Given the description of an element on the screen output the (x, y) to click on. 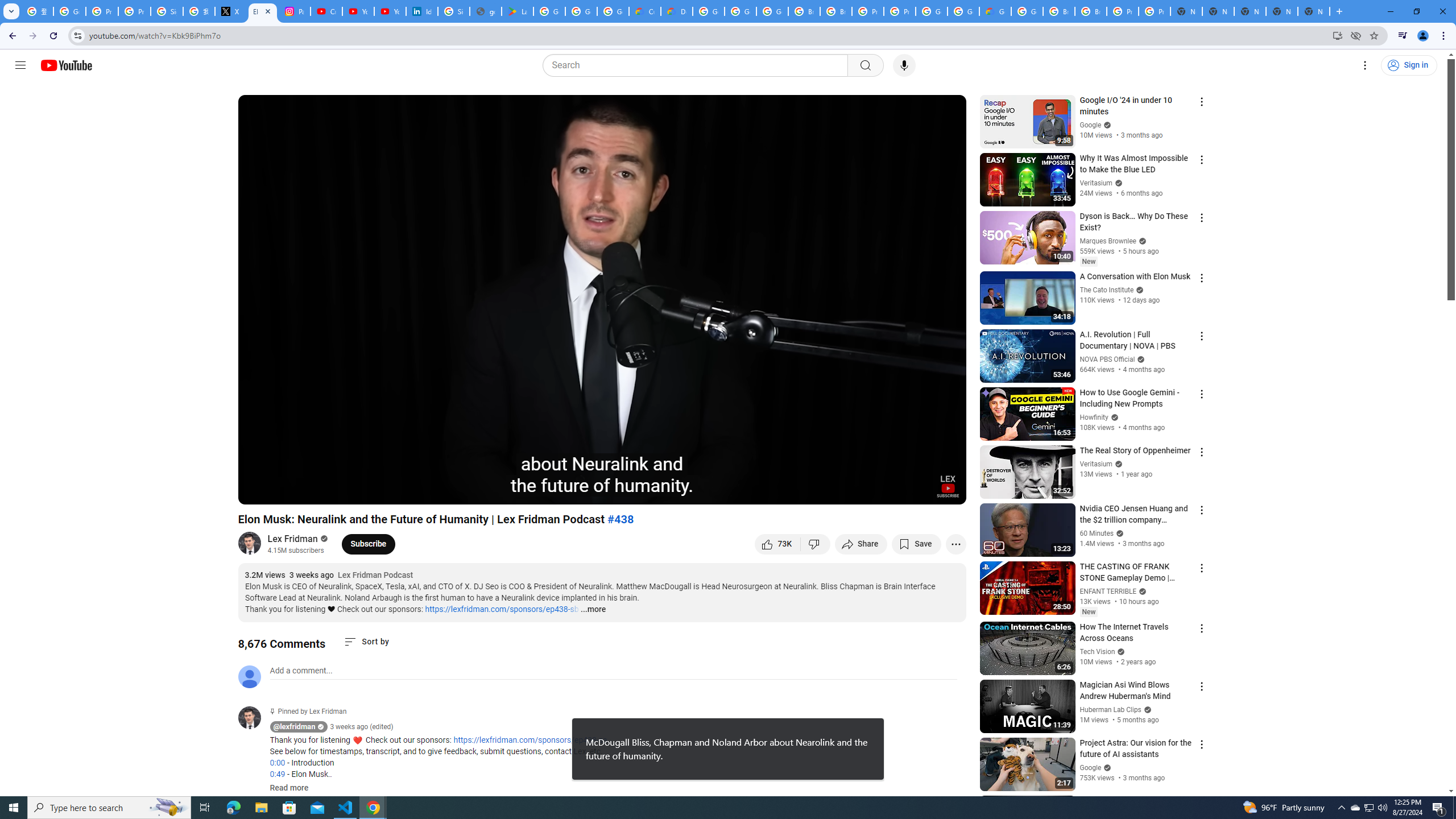
Channel watermark (947, 486)
Full screen (f) (945, 490)
Share (861, 543)
Browse Chrome as a guest - Computer - Google Chrome Help (1059, 11)
Browse Chrome as a guest - Computer - Google Chrome Help (804, 11)
@lexfridman (253, 717)
